Given the description of an element on the screen output the (x, y) to click on. 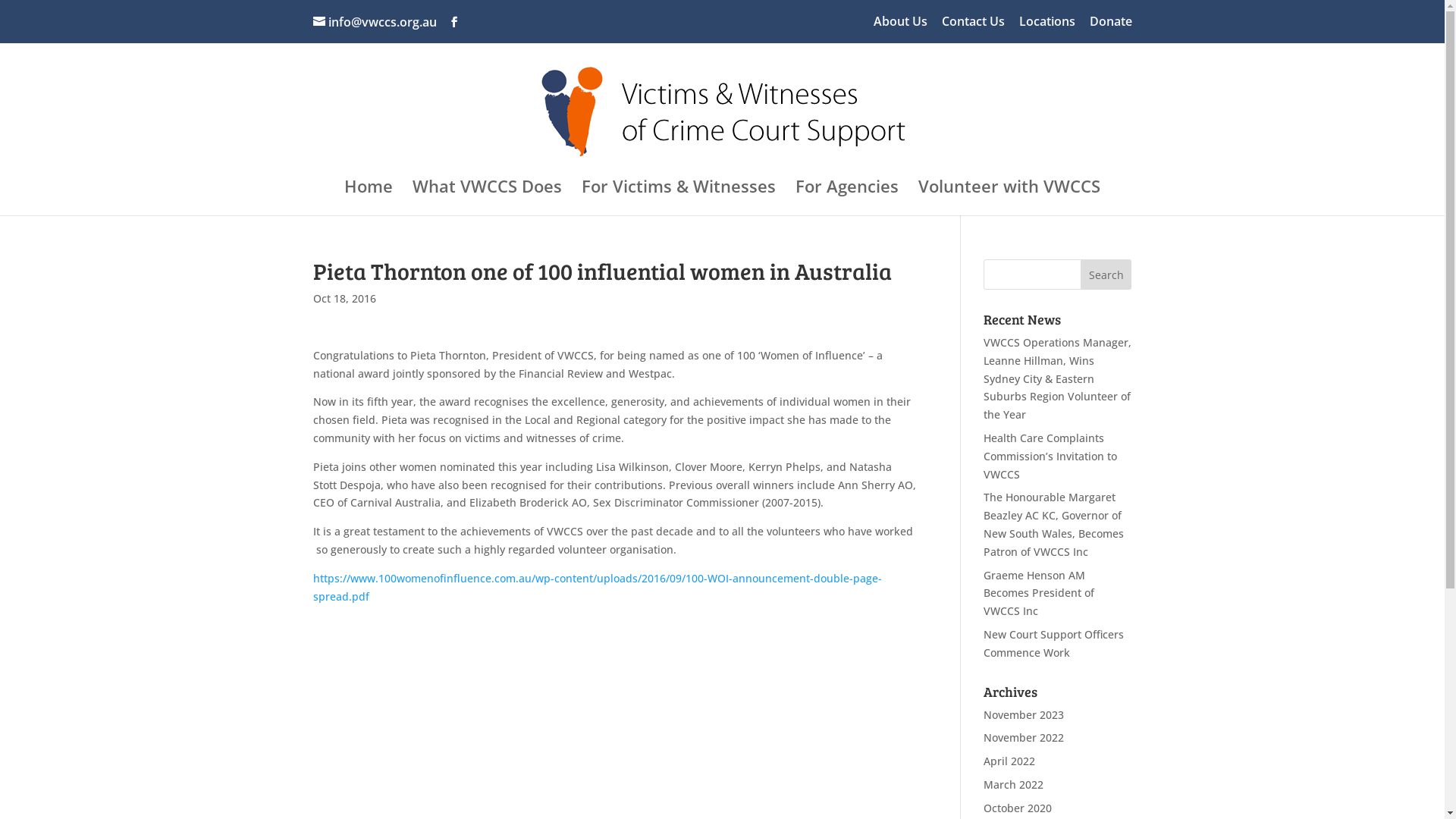
What VWCCS Does Element type: text (486, 197)
Volunteer with VWCCS Element type: text (1009, 197)
October 2020 Element type: text (1017, 807)
Donate Element type: text (1109, 25)
New Court Support Officers Commence Work Element type: text (1053, 643)
About Us Element type: text (900, 25)
March 2022 Element type: text (1013, 784)
Graeme Henson AM Becomes President of VWCCS Inc Element type: text (1038, 592)
info@vwccs.org.au Element type: text (374, 21)
Search Element type: text (1106, 274)
Locations Element type: text (1047, 25)
For Victims & Witnesses Element type: text (678, 197)
For Agencies Element type: text (846, 197)
April 2022 Element type: text (1009, 760)
Contact Us Element type: text (972, 25)
November 2023 Element type: text (1023, 714)
November 2022 Element type: text (1023, 737)
Home Element type: text (368, 197)
